Given the description of an element on the screen output the (x, y) to click on. 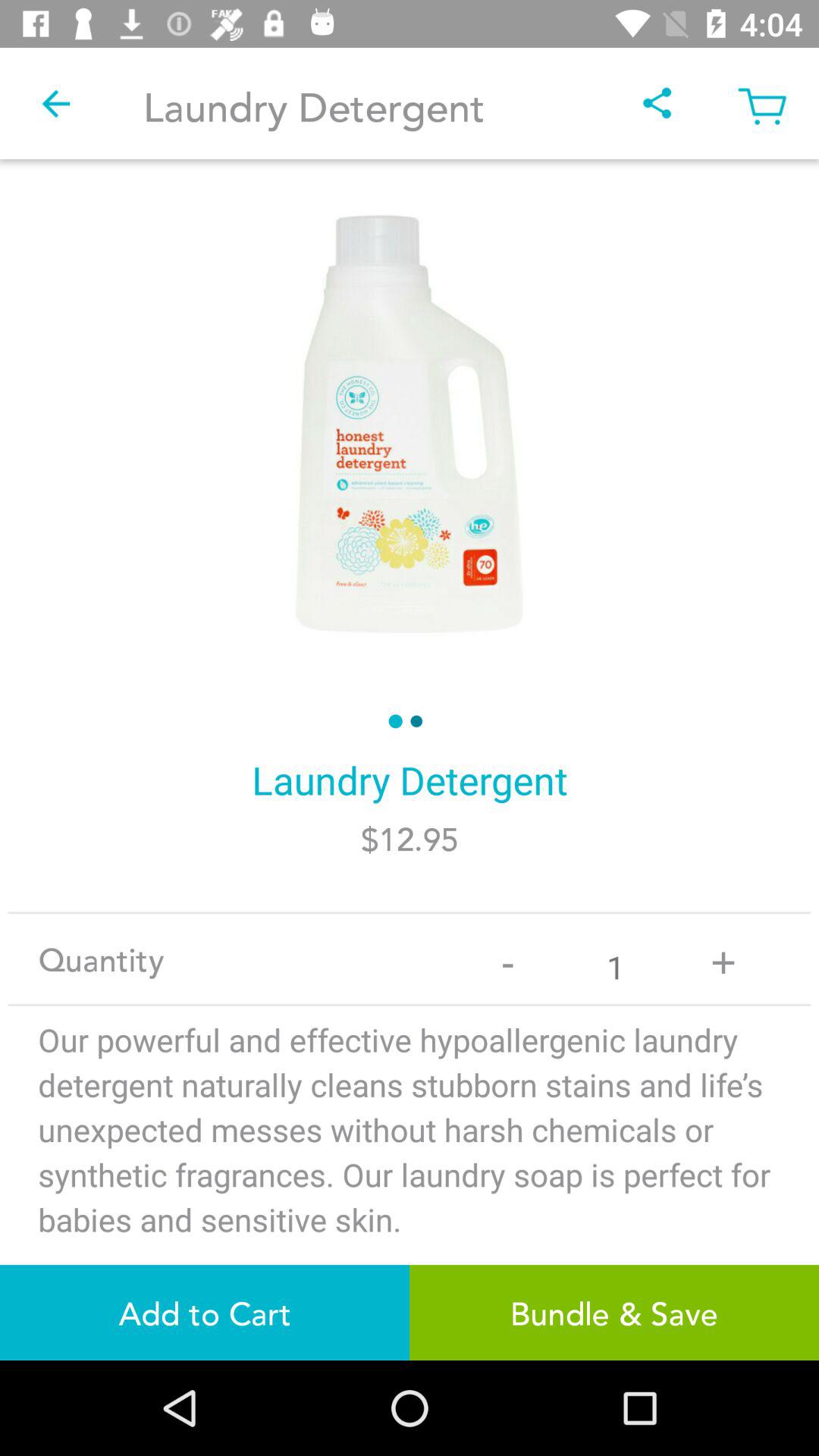
turn on the - (507, 958)
